Given the description of an element on the screen output the (x, y) to click on. 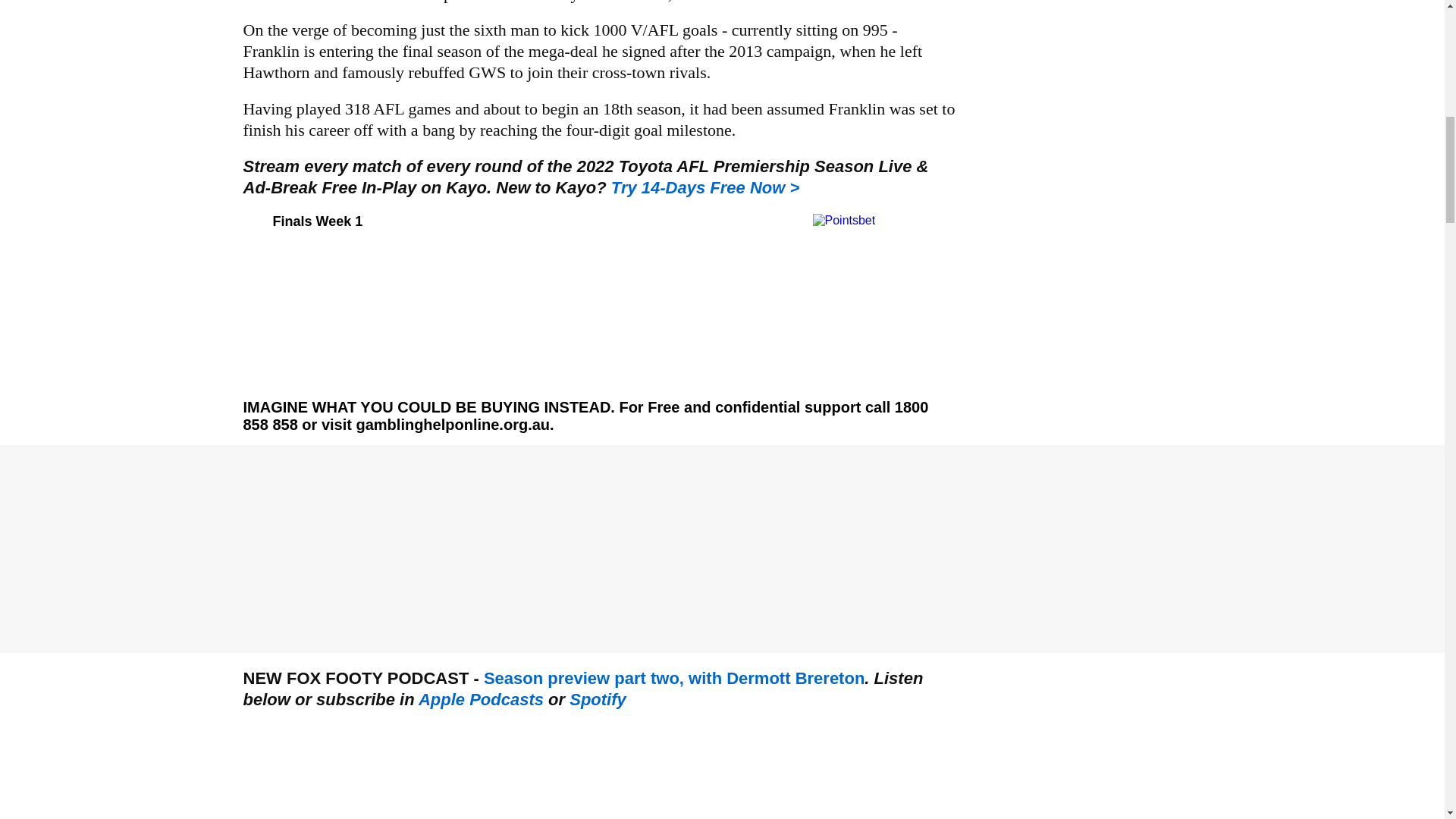
Spotify (597, 699)
servedby.flashtalking.com (705, 187)
Apple Podcasts (481, 699)
Season preview part two, with Dermott Brereton (673, 678)
